Given the description of an element on the screen output the (x, y) to click on. 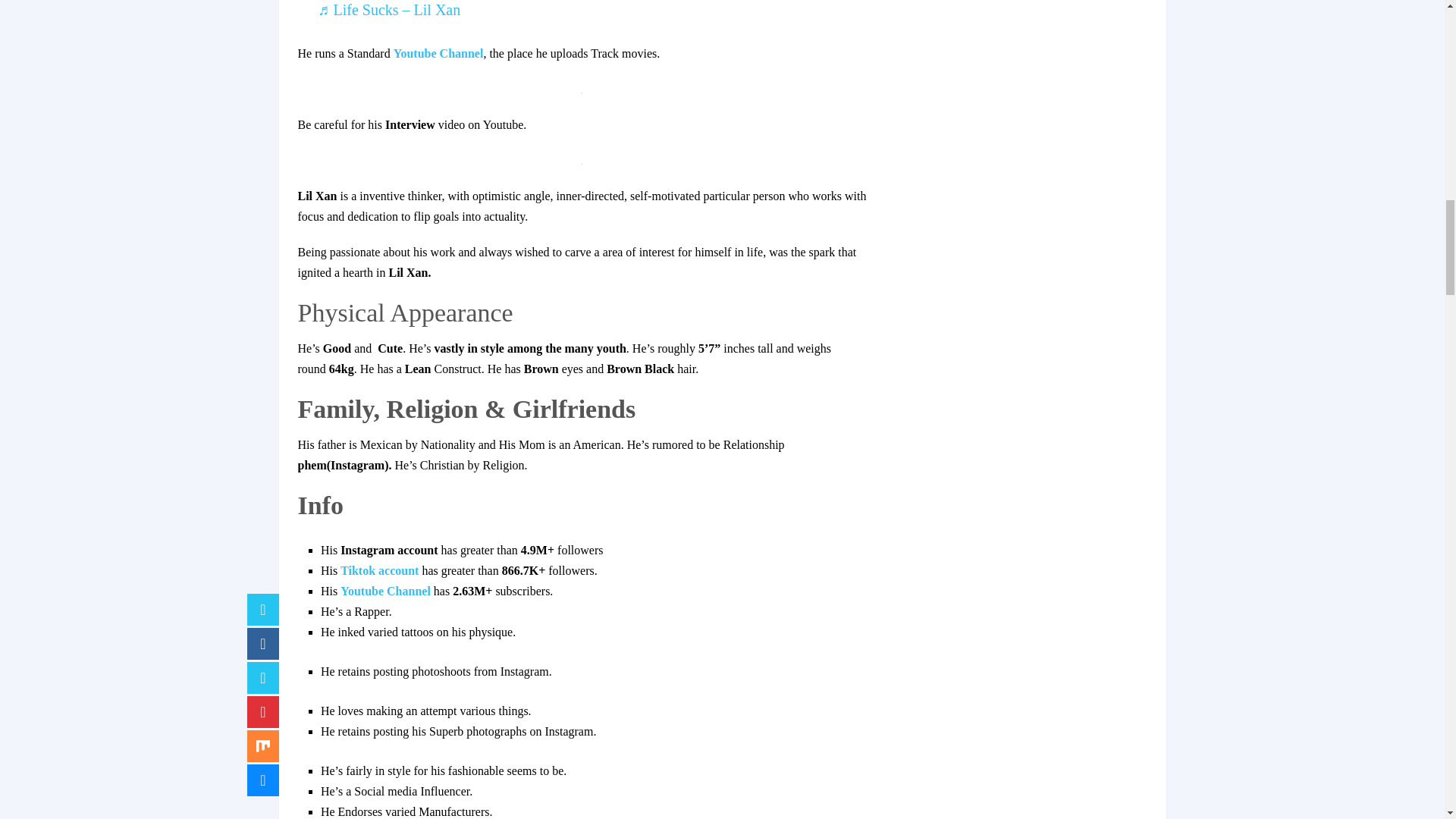
Youtube Channel (385, 590)
Tiktok account (379, 570)
Youtube Channel (438, 52)
